Given the description of an element on the screen output the (x, y) to click on. 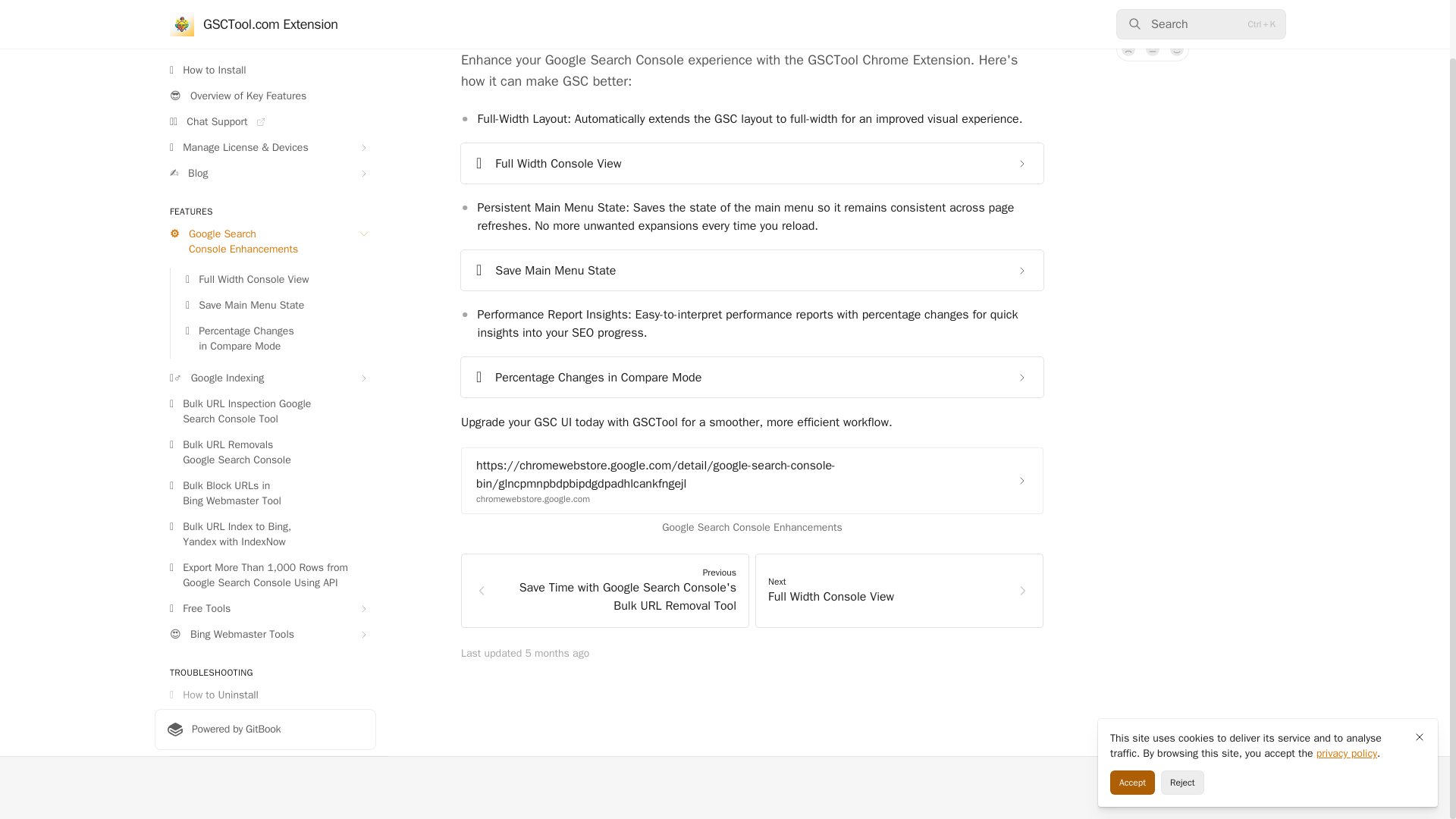
No (1128, 48)
Powered by GitBook (264, 729)
Close (1419, 674)
Not sure (1152, 48)
Yes, it was! (1176, 48)
